Given the description of an element on the screen output the (x, y) to click on. 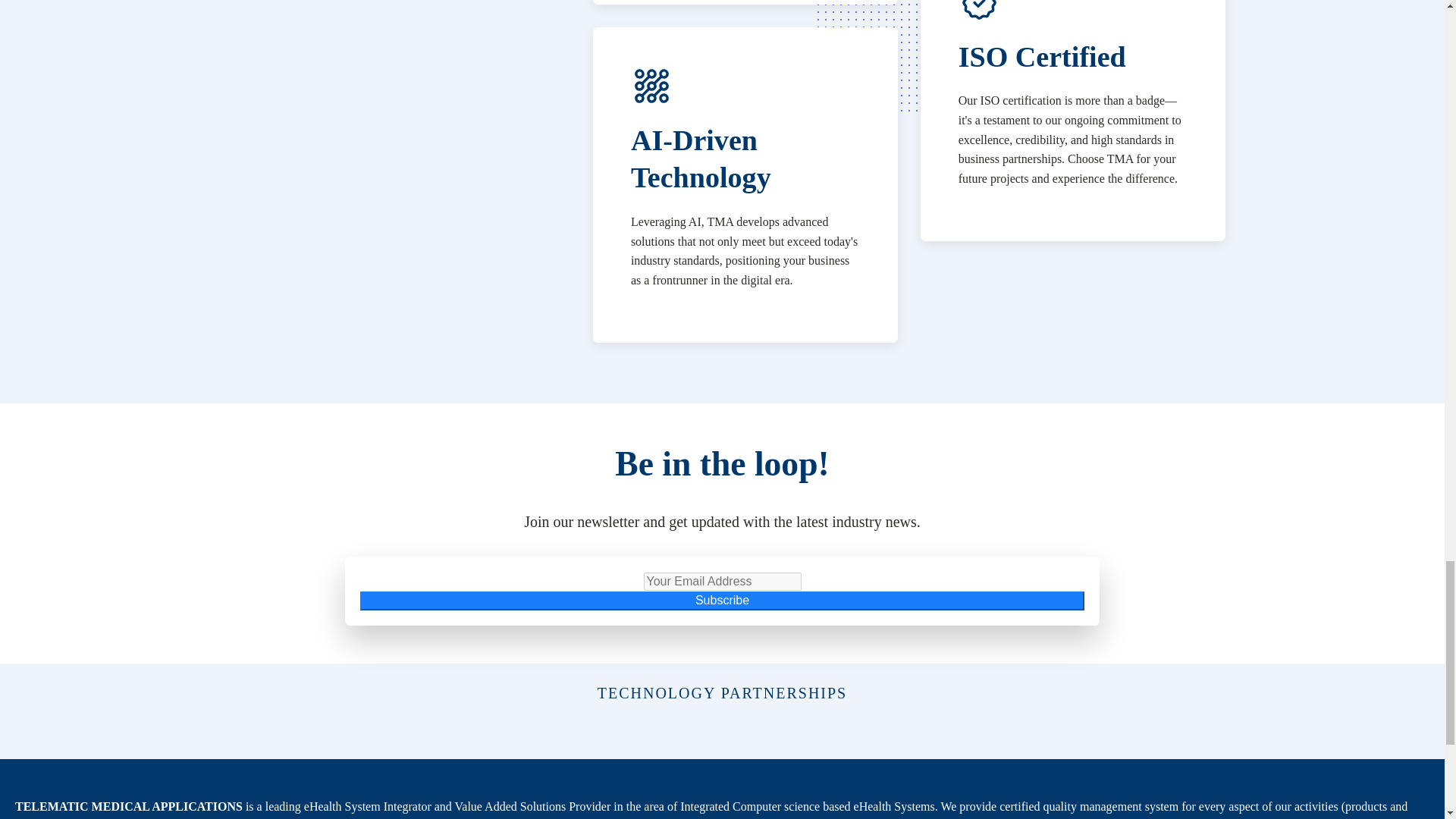
Subscribe (721, 600)
